Given the description of an element on the screen output the (x, y) to click on. 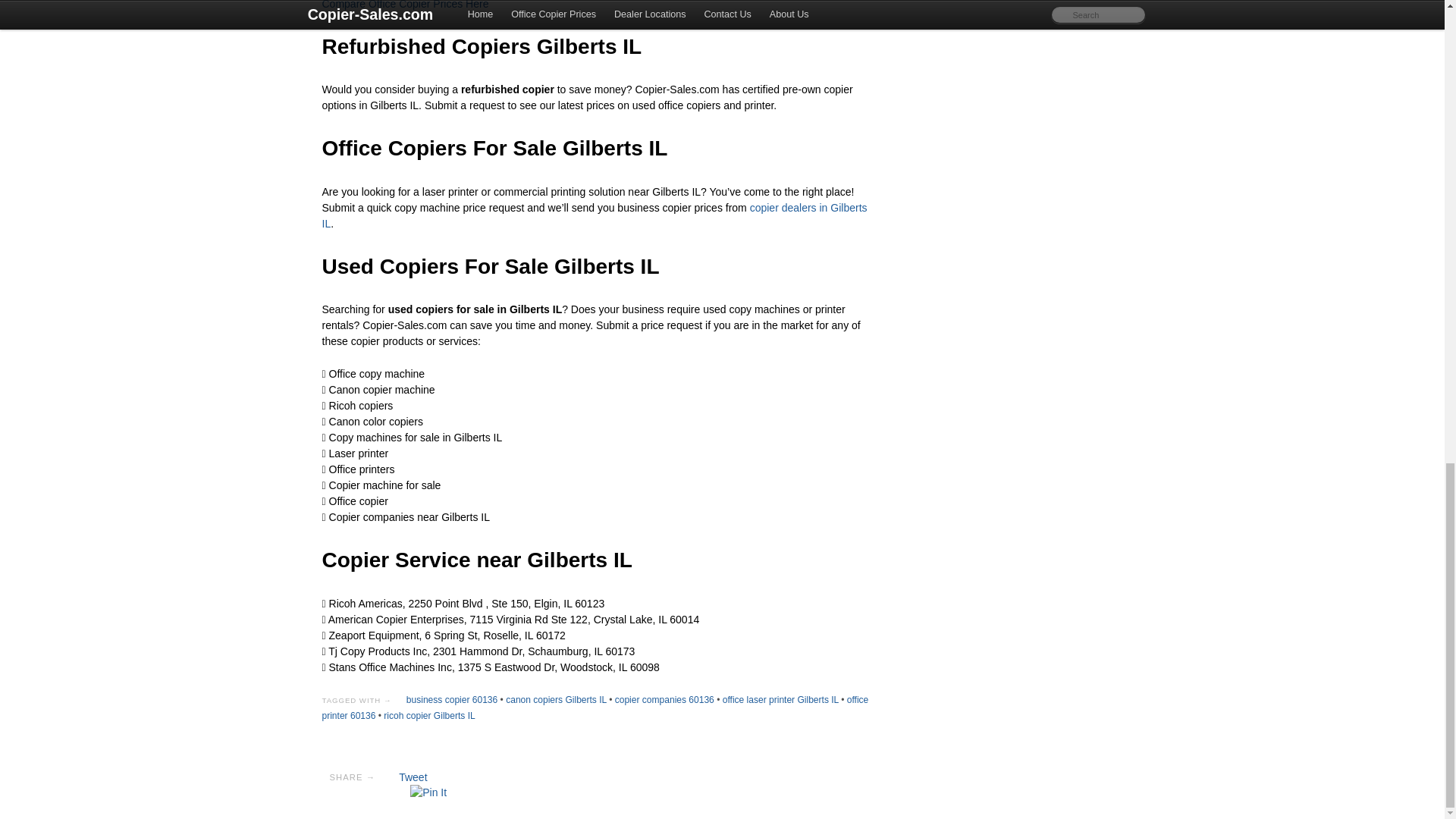
business copier 60136 (451, 699)
ricoh copier Gilberts IL (429, 715)
Compare Office Copier Prices Here (404, 4)
office laser printer Gilberts IL (780, 699)
copier companies 60136 (664, 699)
copier dealers in Gilberts IL (593, 215)
Pin It (428, 792)
office printer 60136 (594, 707)
canon copiers Gilberts IL (556, 699)
Tweet (412, 776)
